Given the description of an element on the screen output the (x, y) to click on. 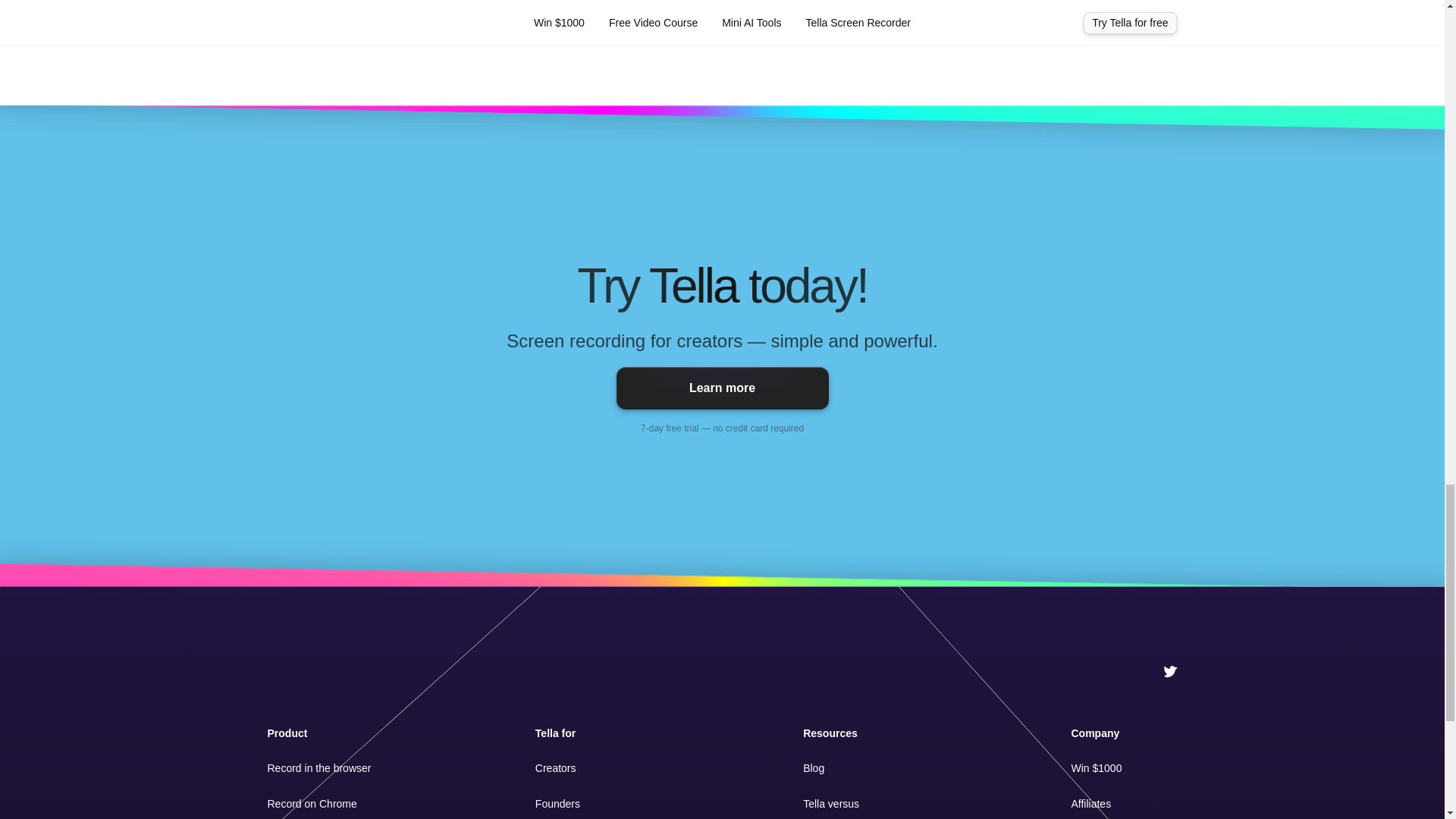
Product (286, 733)
Creators (555, 767)
Record on Chrome (311, 803)
Tella for (555, 733)
Founders (557, 803)
Record in the browser (318, 767)
Learn more (721, 387)
Resources (830, 733)
